Given the description of an element on the screen output the (x, y) to click on. 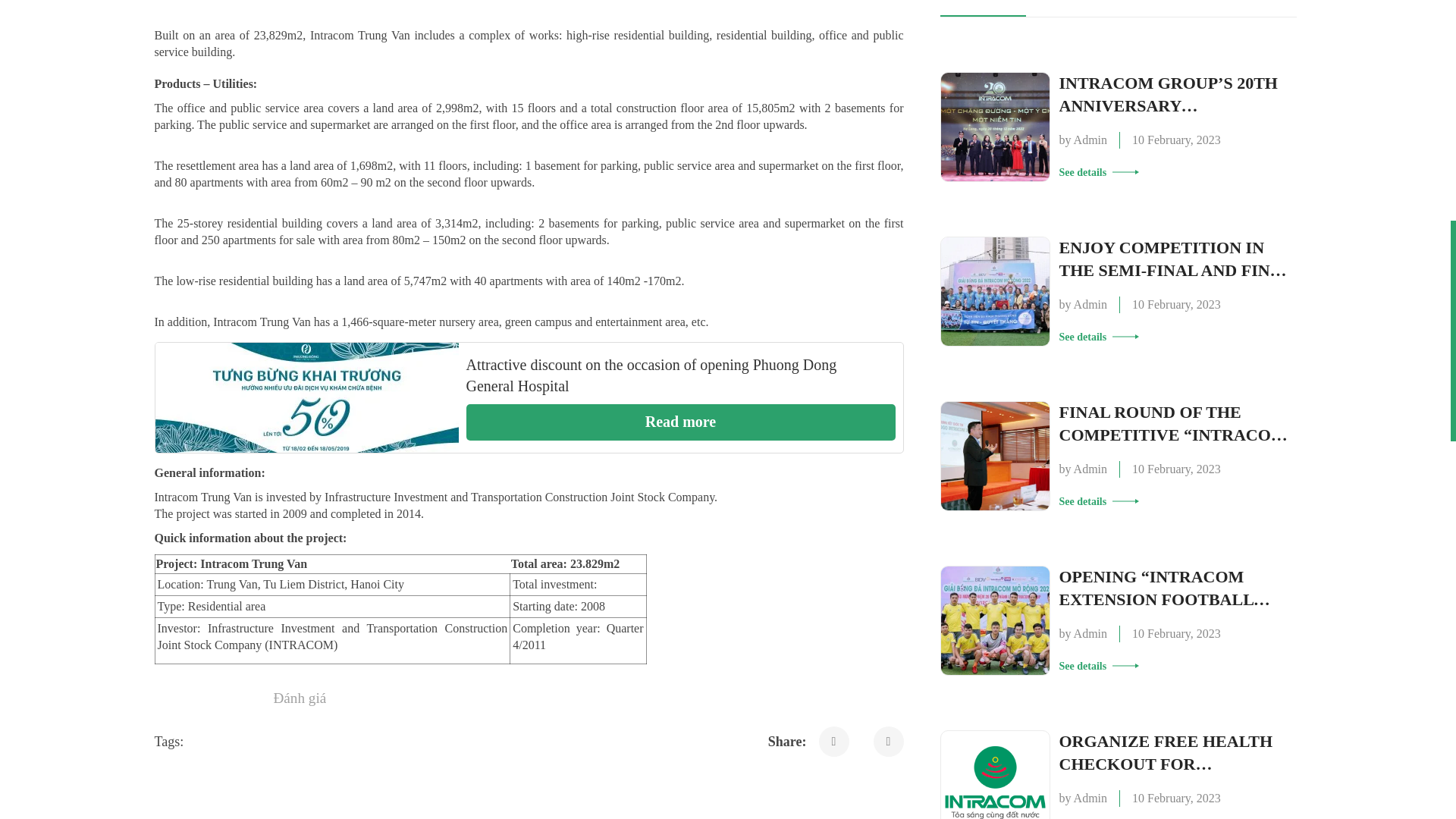
Twitter (888, 741)
See details (1098, 172)
Facebook (833, 741)
See details (1098, 336)
See details (1098, 666)
See details (1098, 501)
